Given the description of an element on the screen output the (x, y) to click on. 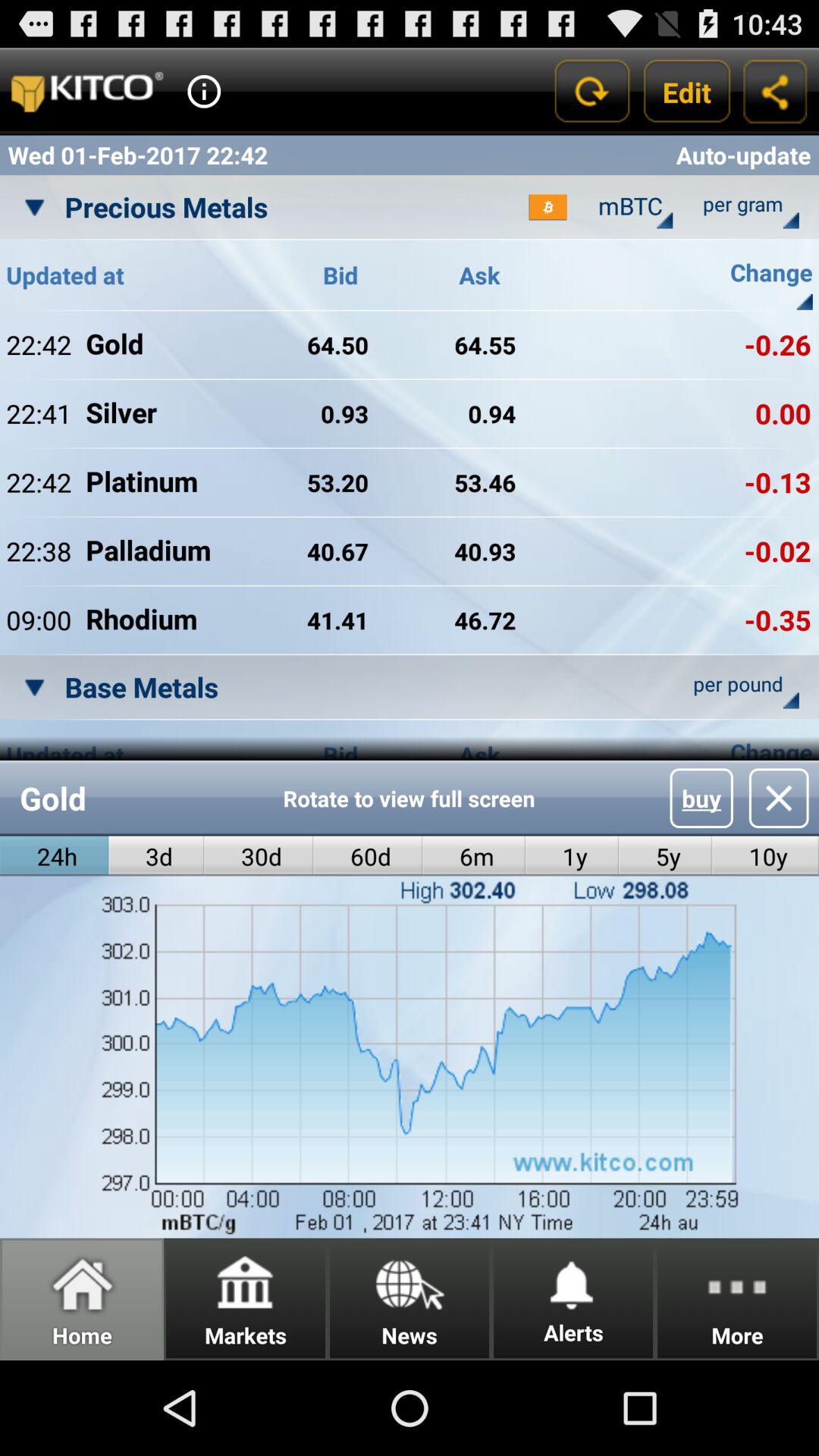
press icon to the left of the 3d item (54, 856)
